Given the description of an element on the screen output the (x, y) to click on. 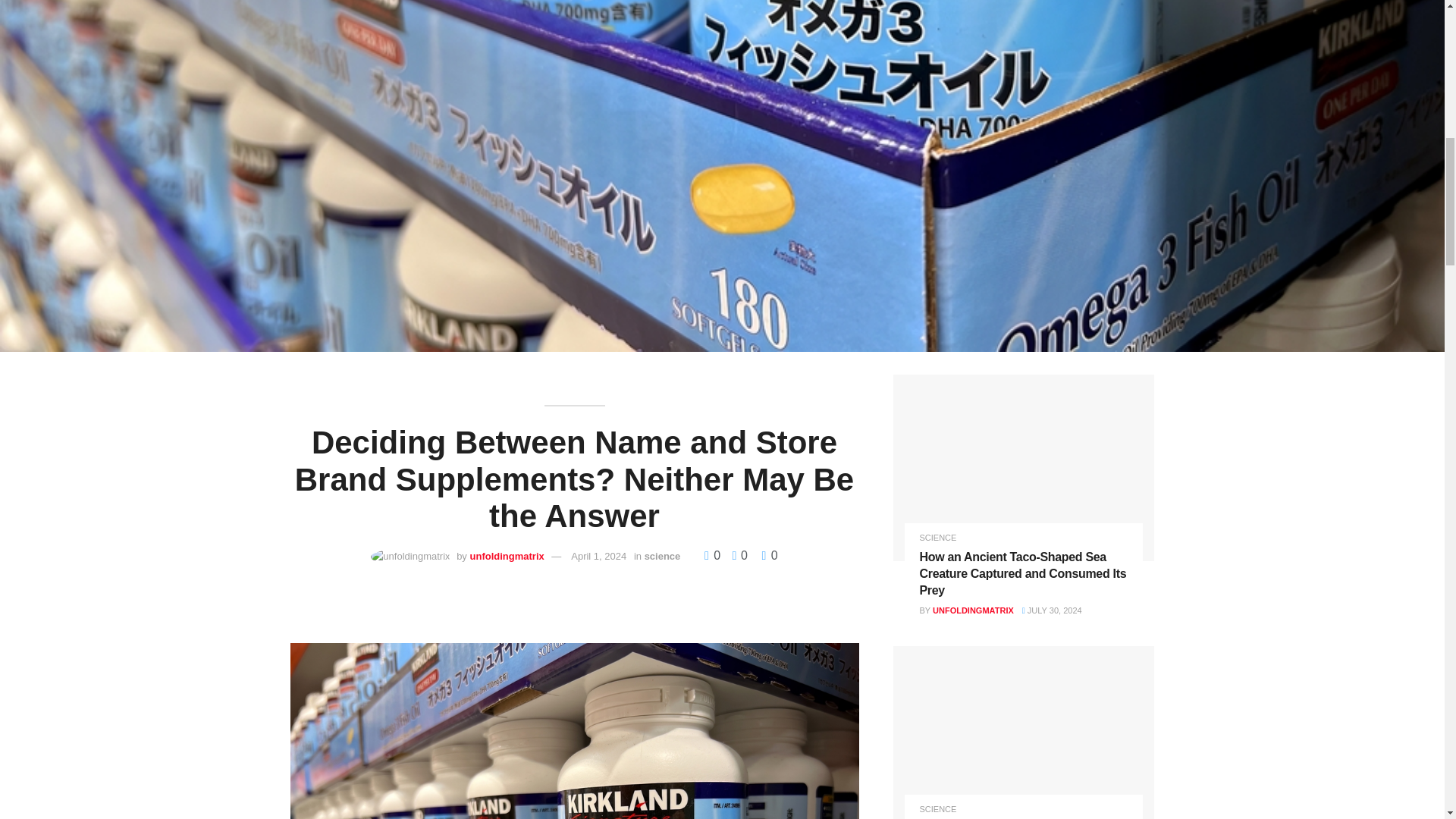
0 (769, 554)
0 (735, 554)
science (663, 555)
April 1, 2024 (598, 555)
unfoldingmatrix (507, 555)
0 (713, 554)
